Given the description of an element on the screen output the (x, y) to click on. 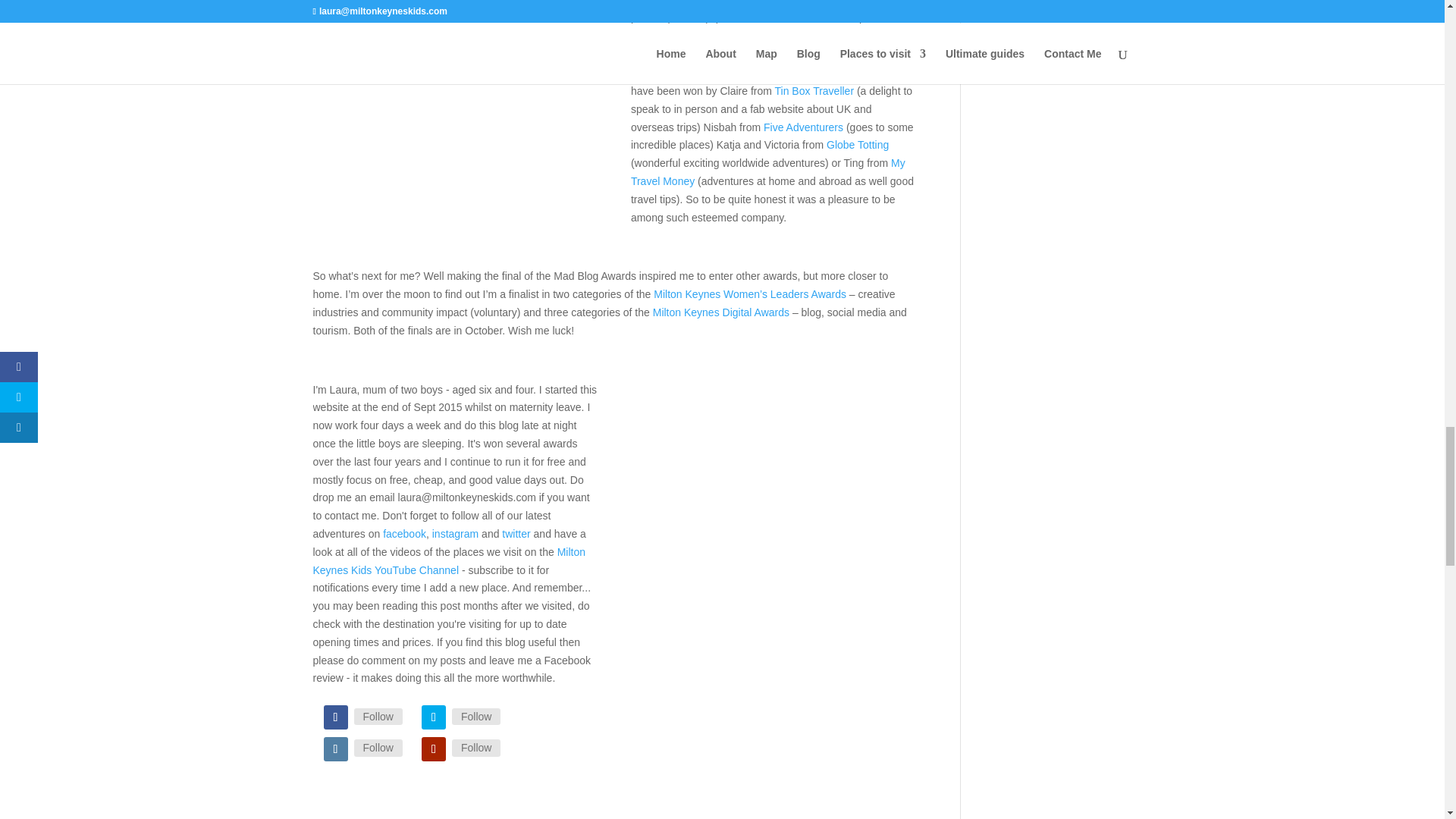
Facebook (377, 716)
Follow on Instagram (335, 749)
Twitter (475, 716)
Instagram (377, 747)
Follow on Twitter (433, 717)
Youtube (475, 747)
Follow on Youtube (433, 749)
Follow on Facebook (335, 717)
